Given the description of an element on the screen output the (x, y) to click on. 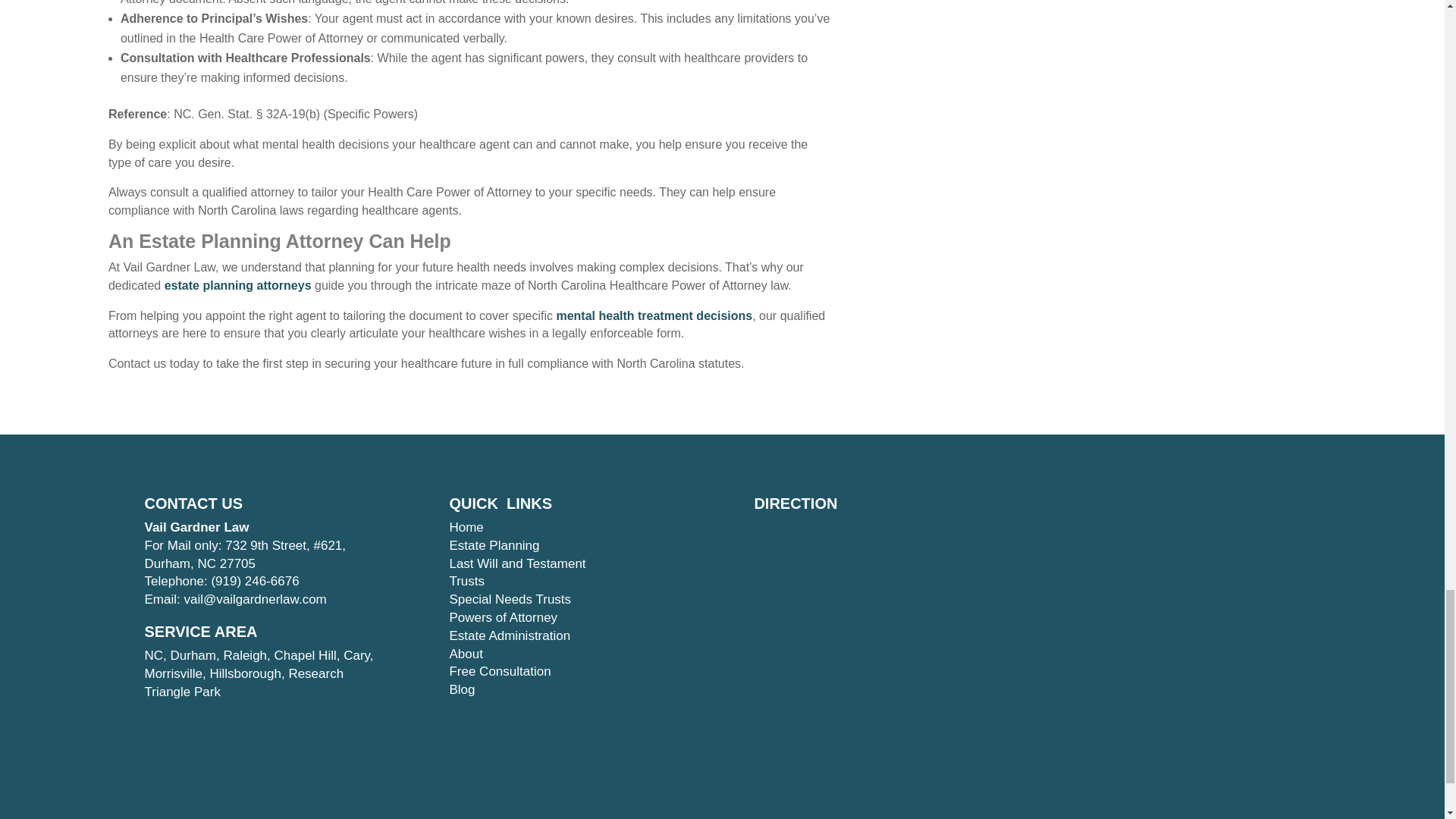
mental health treatment decisions (654, 315)
Estate Administration (509, 635)
Special Needs Trusts (509, 599)
Trusts (466, 581)
estate planning attorneys (237, 285)
Home (465, 527)
Estate Planning (493, 545)
About (464, 653)
Powers of Attorney (502, 617)
Last Will and Testament (516, 563)
Free Consultation (499, 671)
